Given the description of an element on the screen output the (x, y) to click on. 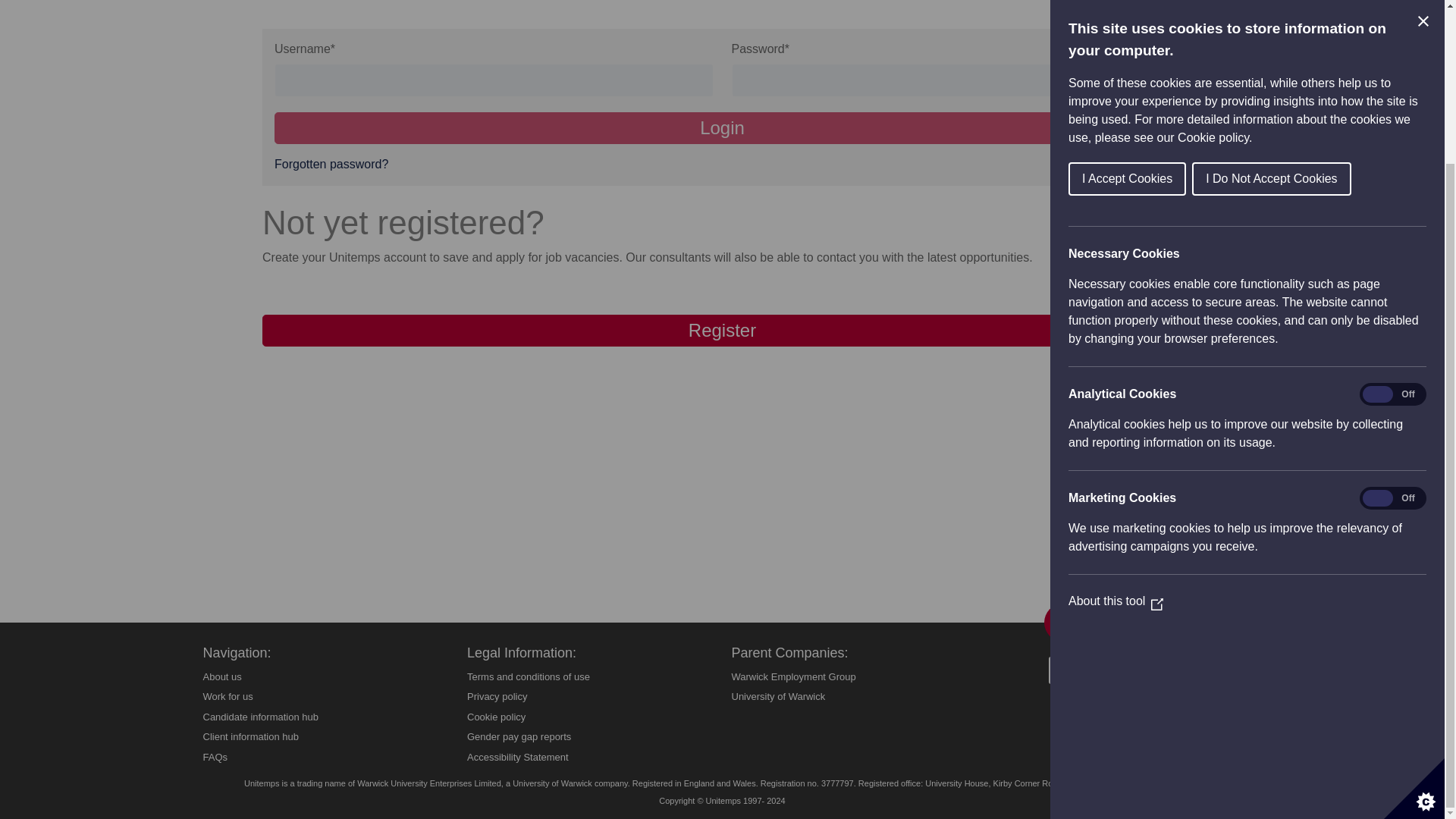
Work for us (228, 696)
Terms and conditions of use (528, 676)
Unitemps on Facebook (1062, 622)
Candidate information hub (260, 716)
Client information hub (250, 736)
Forgotten password? (331, 164)
Cookie policy (496, 716)
I Accept Cookies (1360, 1)
Accessibility Statement (518, 756)
Register (722, 330)
